Given the description of an element on the screen output the (x, y) to click on. 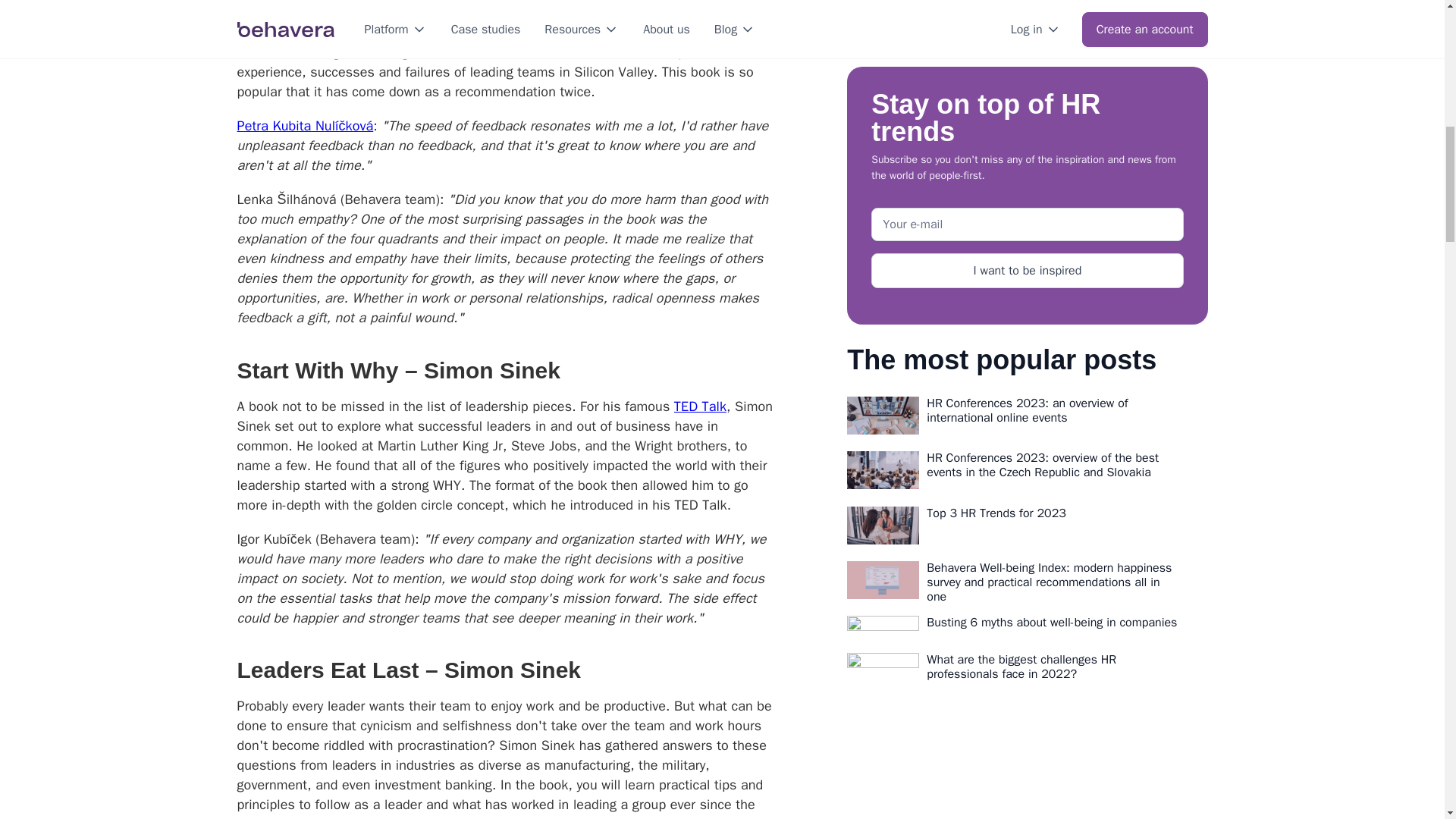
TED Talk (700, 406)
Top 3 HR Trends for 2023 (1052, 11)
